Given the description of an element on the screen output the (x, y) to click on. 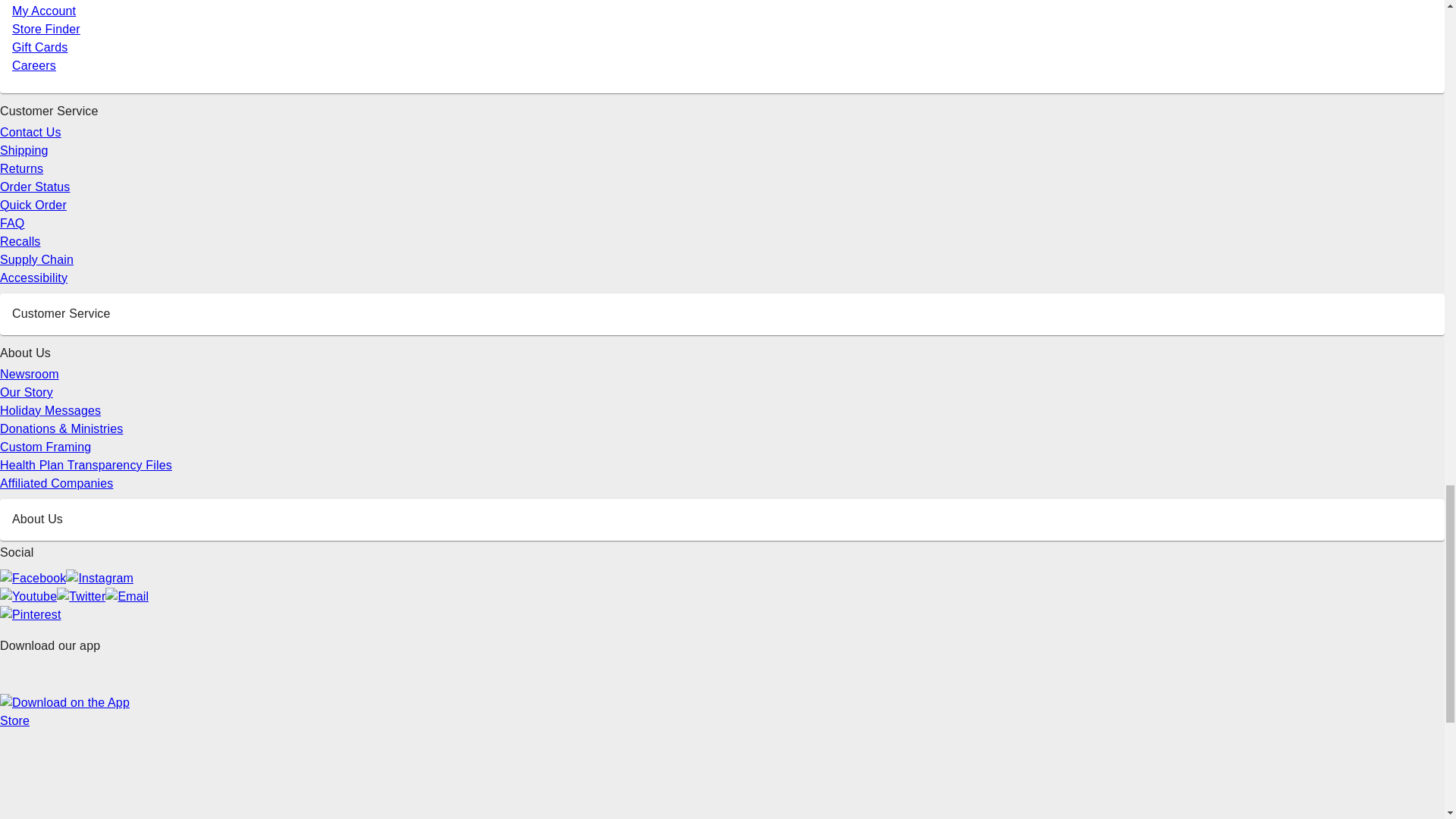
Careers (33, 65)
Order Status (34, 187)
Gift Cards (39, 47)
Quick Order (33, 205)
Store Directory (52, 1)
Contact Us (30, 132)
Store Finder (45, 29)
Recalls (20, 241)
My Account (43, 11)
Accessibility (33, 278)
Returns (21, 168)
Supply Chain (37, 259)
Shipping (24, 150)
FAQ (12, 223)
